Given the description of an element on the screen output the (x, y) to click on. 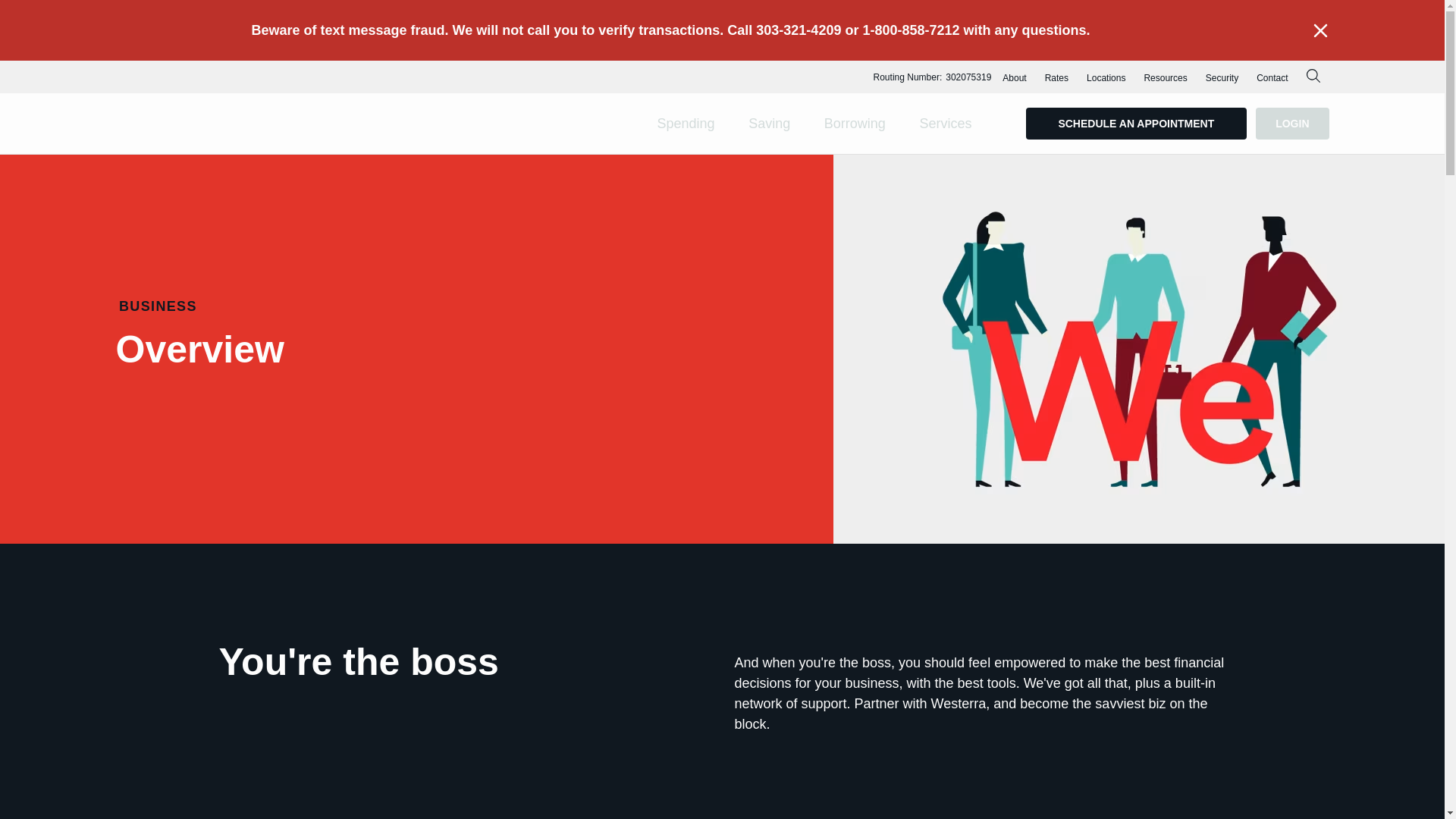
Contact (1272, 78)
About (1013, 78)
Locations (1105, 78)
Services (945, 123)
Resources (1164, 78)
Spending (685, 123)
Saving (769, 123)
Borrowing (855, 123)
302075319 (967, 77)
SCHEDULE AN APPOINTMENT (1135, 123)
